Given the description of an element on the screen output the (x, y) to click on. 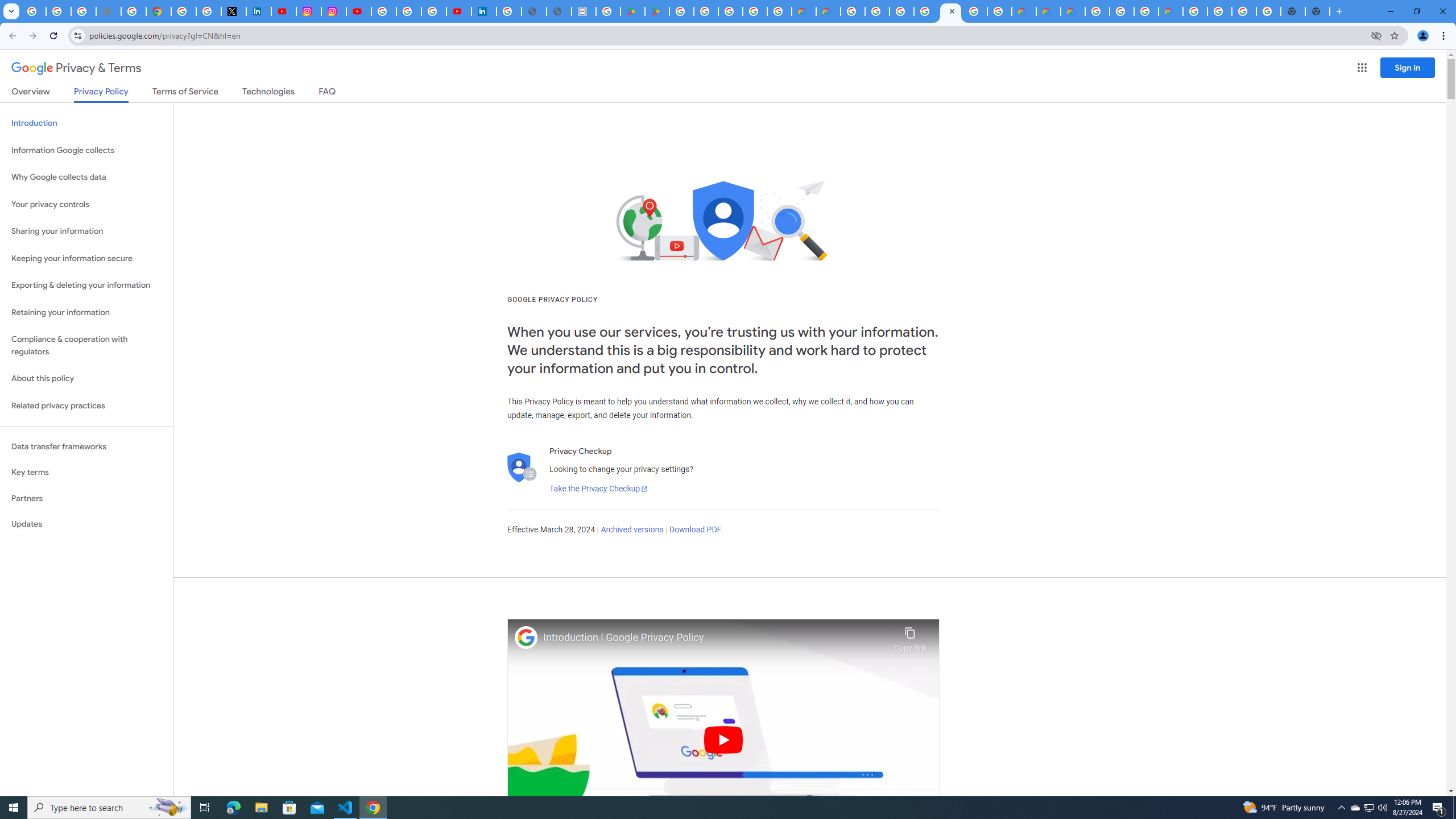
Sign in - Google Accounts (509, 11)
X (233, 11)
Google Cloud Estimate Summary (1072, 11)
FAQ (327, 93)
Customer Care | Google Cloud (803, 11)
Sharing your information (86, 230)
Address and search bar (726, 35)
Browse Chrome as a guest - Computer - Google Chrome Help (1121, 11)
Google Cloud Platform (1097, 11)
Take the Privacy Checkup (597, 488)
Google Cloud Platform (1194, 11)
PAW Patrol Rescue World - Apps on Google Play (656, 11)
